Given the description of an element on the screen output the (x, y) to click on. 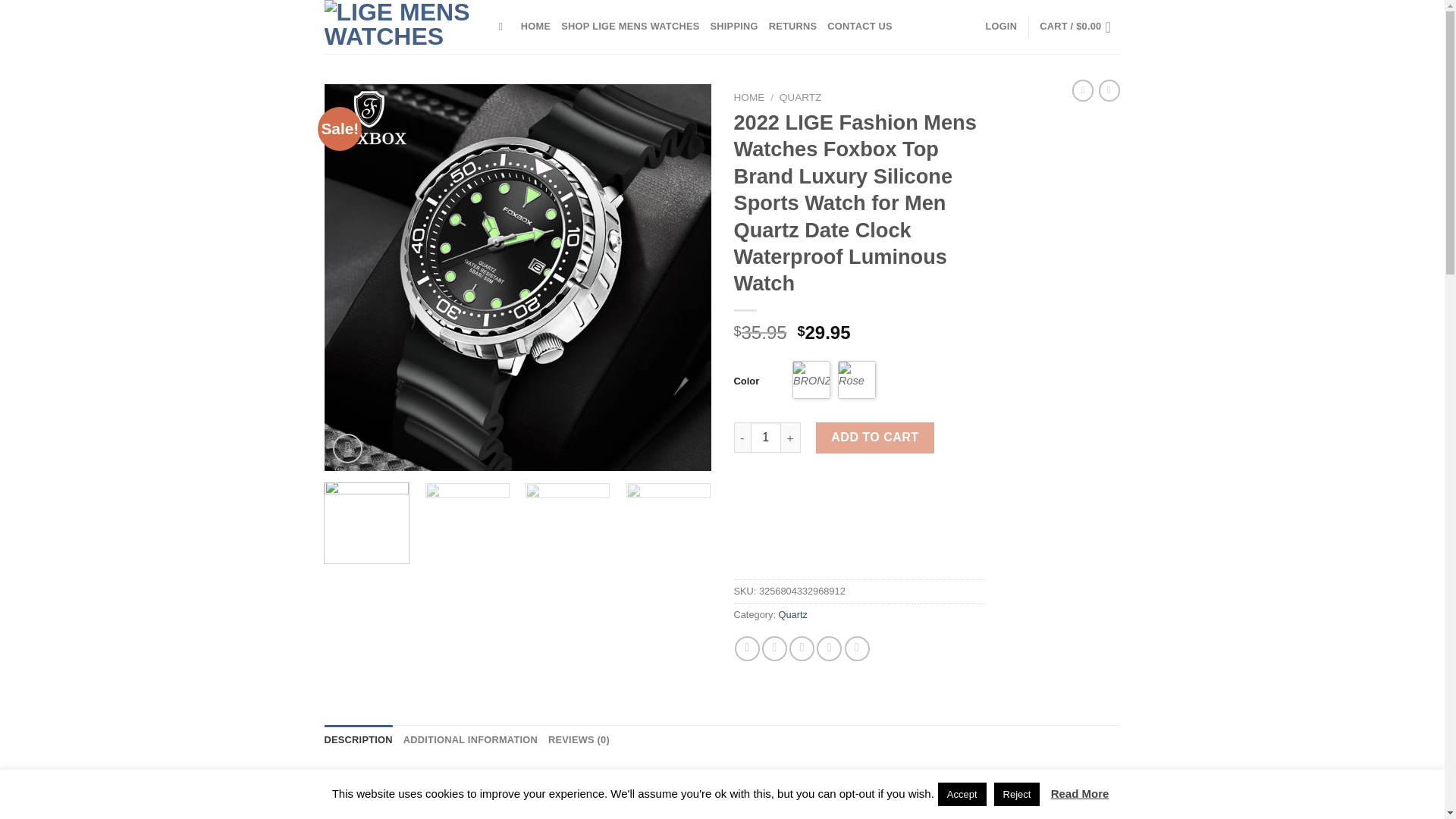
SHIPPING (733, 26)
Qty (765, 437)
Rose (857, 379)
LIGE Mens Watches - LIGE Mens Watches (400, 27)
RETURNS (792, 26)
CONTACT US (859, 26)
HOME (535, 26)
Quartz (793, 614)
HOME (749, 97)
Rose (856, 379)
QUARTZ (800, 97)
SHOP LIGE MENS WATCHES (629, 26)
LOGIN (1000, 26)
ADD TO CART (874, 437)
